Given the description of an element on the screen output the (x, y) to click on. 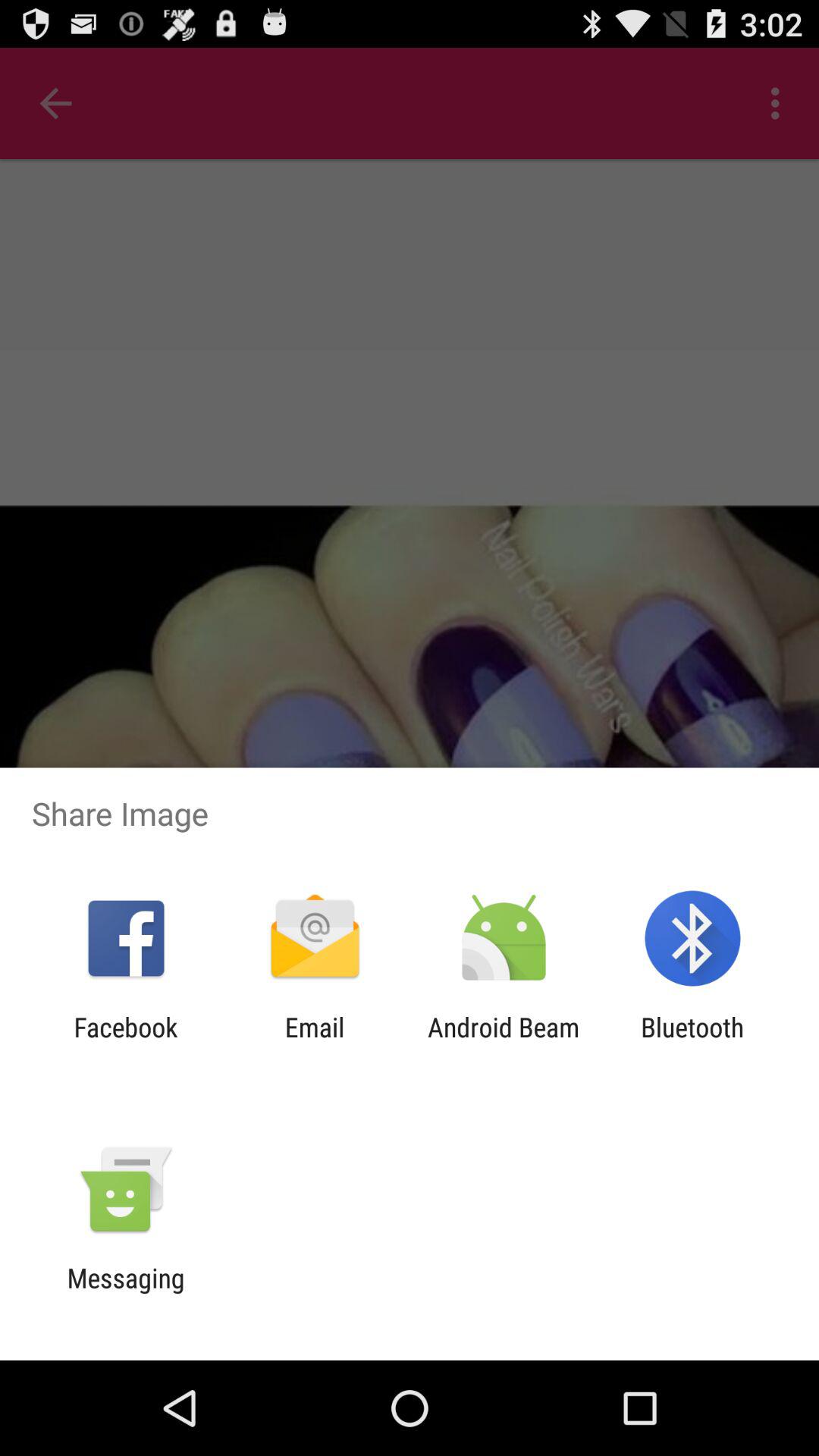
tap facebook item (125, 1042)
